Given the description of an element on the screen output the (x, y) to click on. 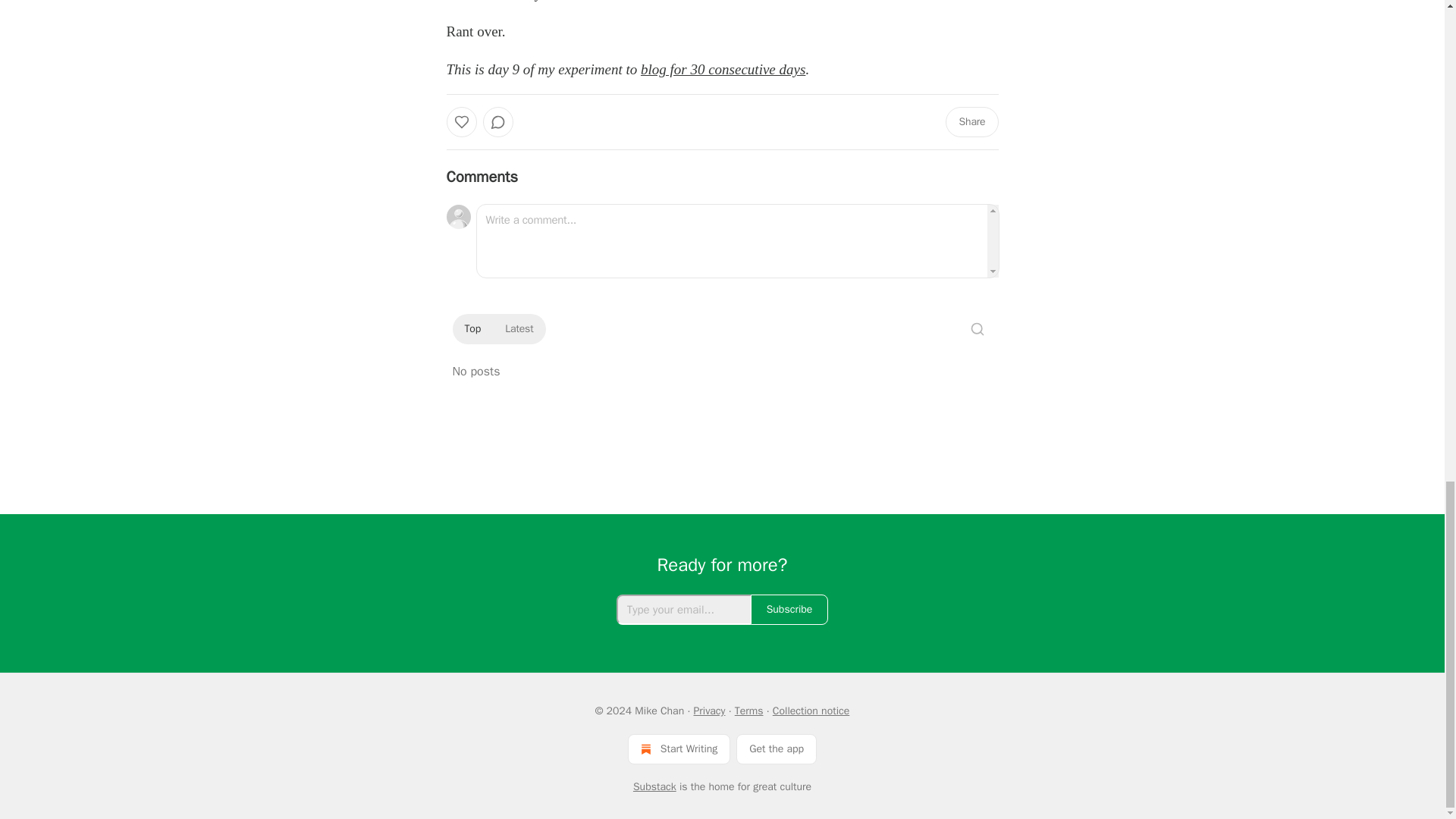
Share (970, 122)
blog for 30 consecutive days (722, 68)
Privacy (709, 710)
Terms (748, 710)
Top (471, 328)
Subscribe (789, 609)
Latest (518, 328)
